Given the description of an element on the screen output the (x, y) to click on. 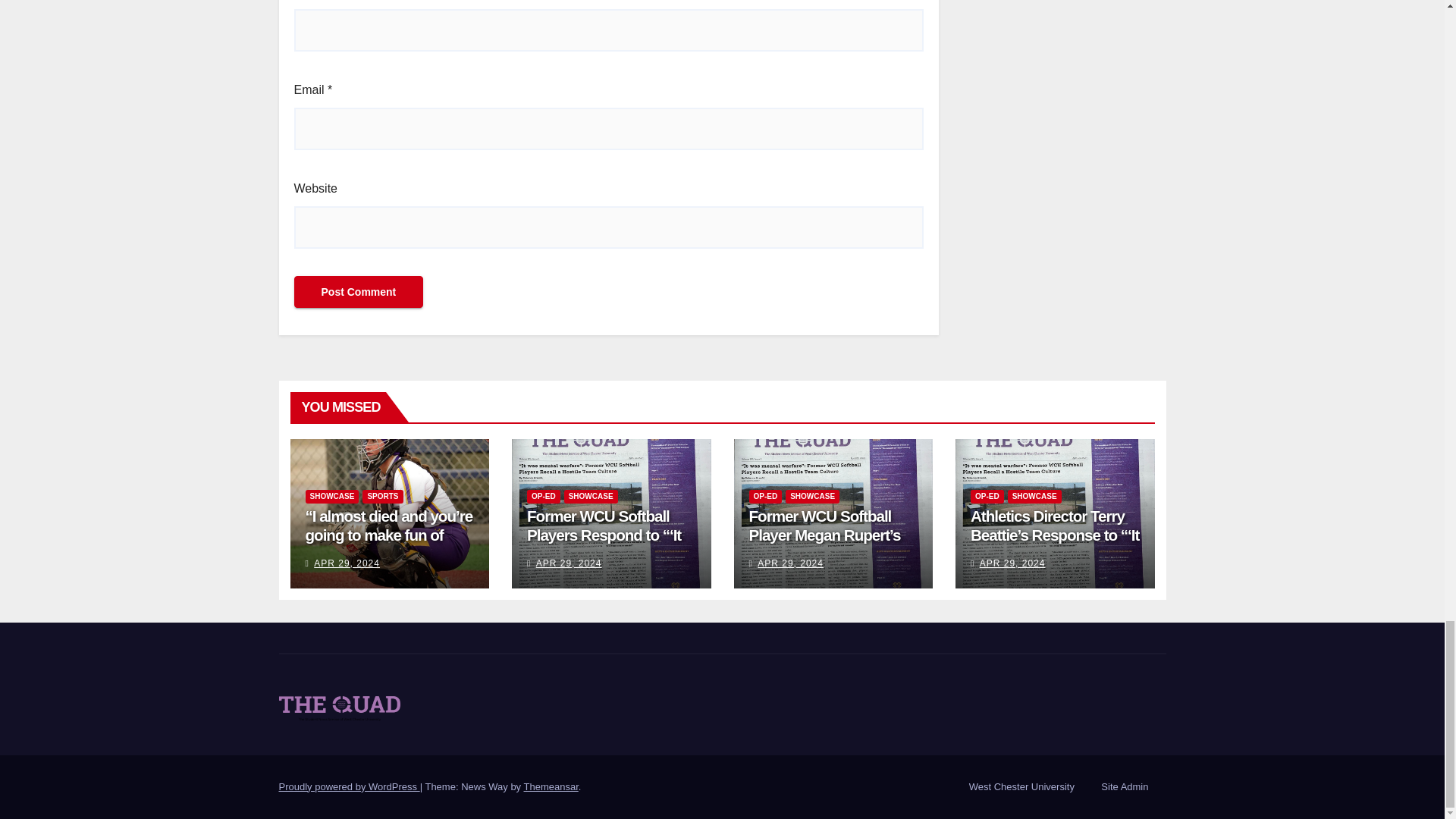
Post Comment (358, 291)
